Given the description of an element on the screen output the (x, y) to click on. 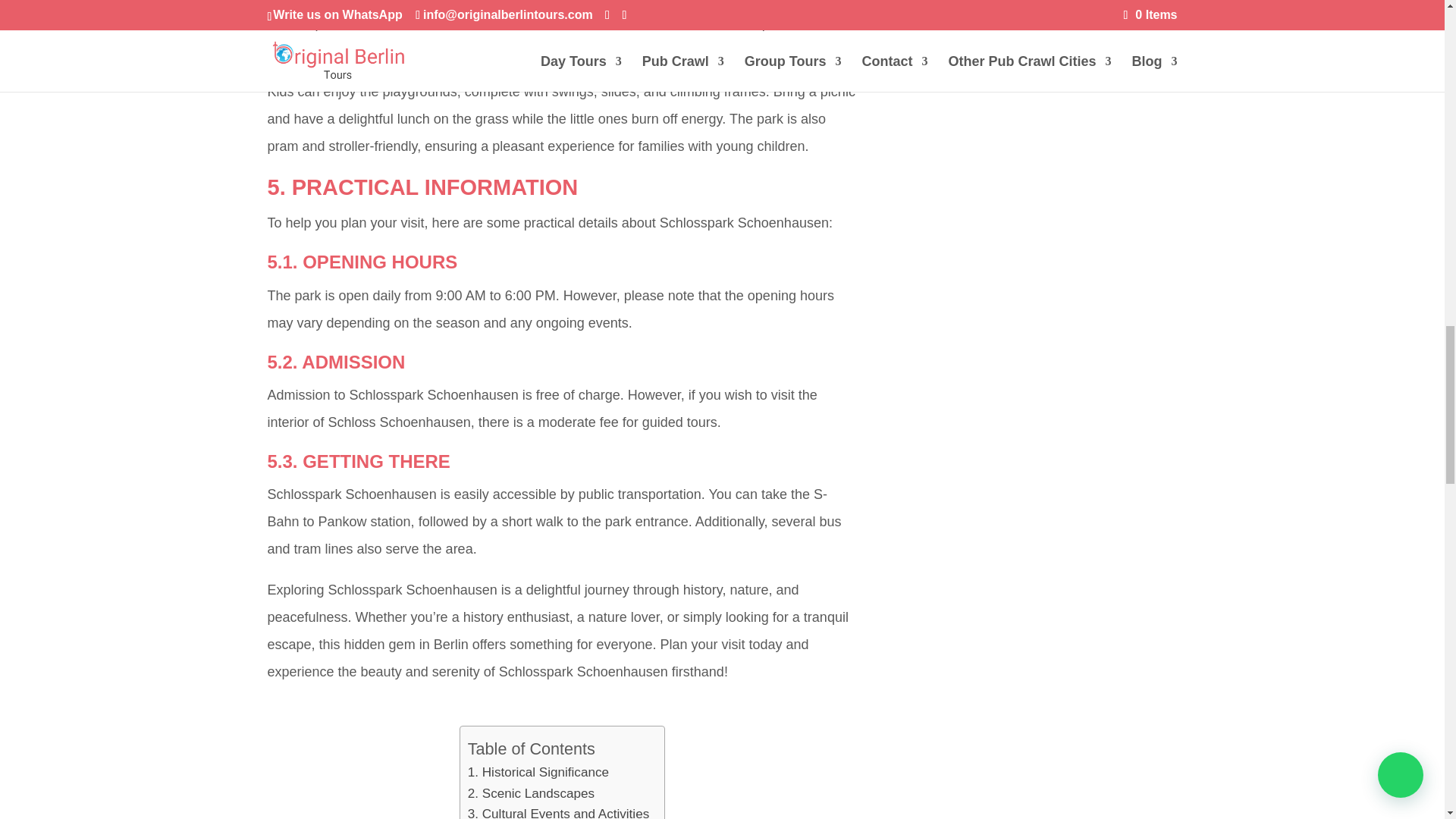
3. Cultural Events and Activities (558, 811)
2. Scenic Landscapes (530, 792)
1. Historical Significance (537, 772)
